Given the description of an element on the screen output the (x, y) to click on. 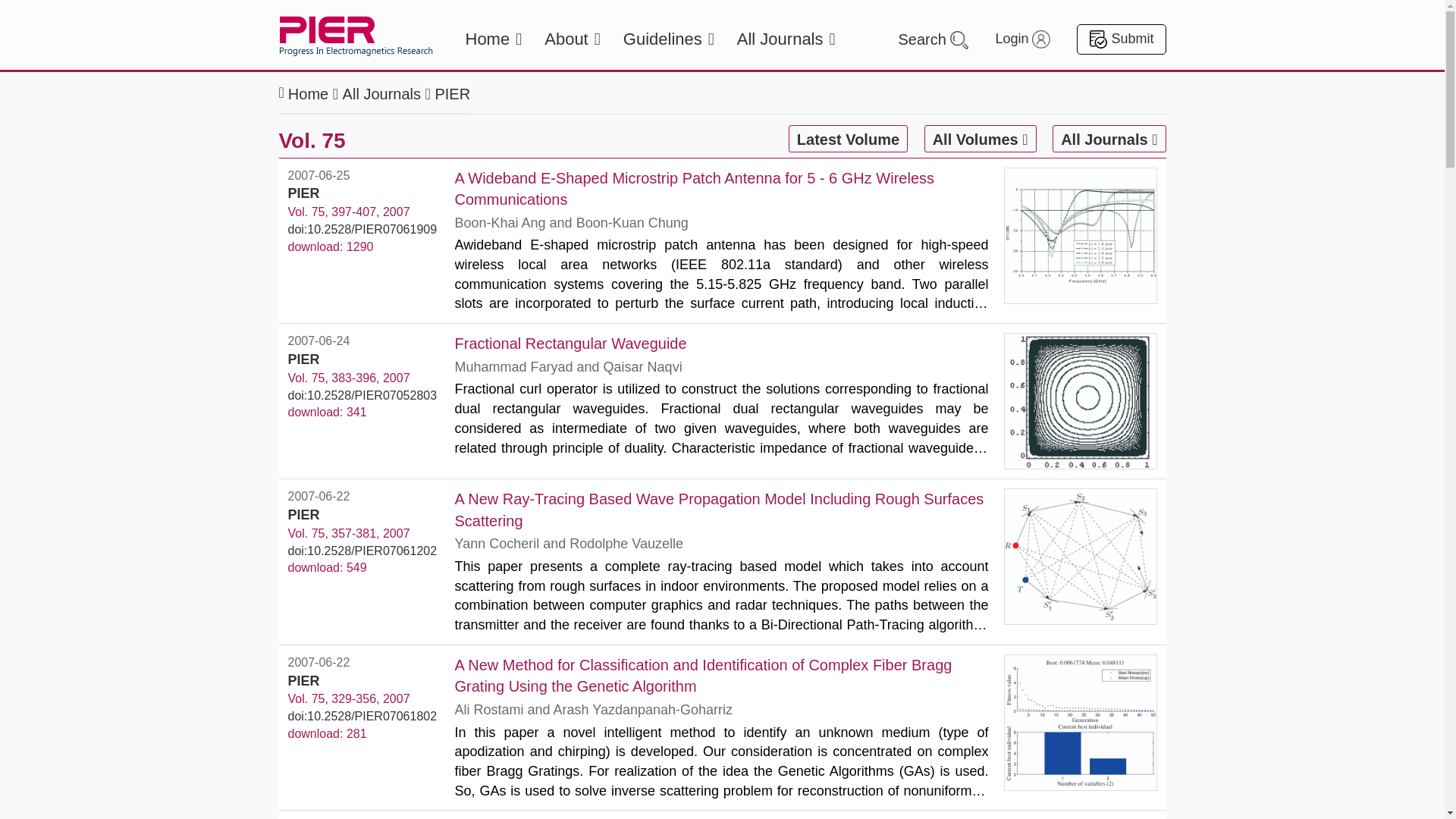
All Journals (785, 39)
About (571, 39)
Login (1021, 39)
Home (493, 39)
All Journals (381, 93)
Guidelines (668, 39)
PIER (451, 93)
Submit (1121, 39)
